Given the description of an element on the screen output the (x, y) to click on. 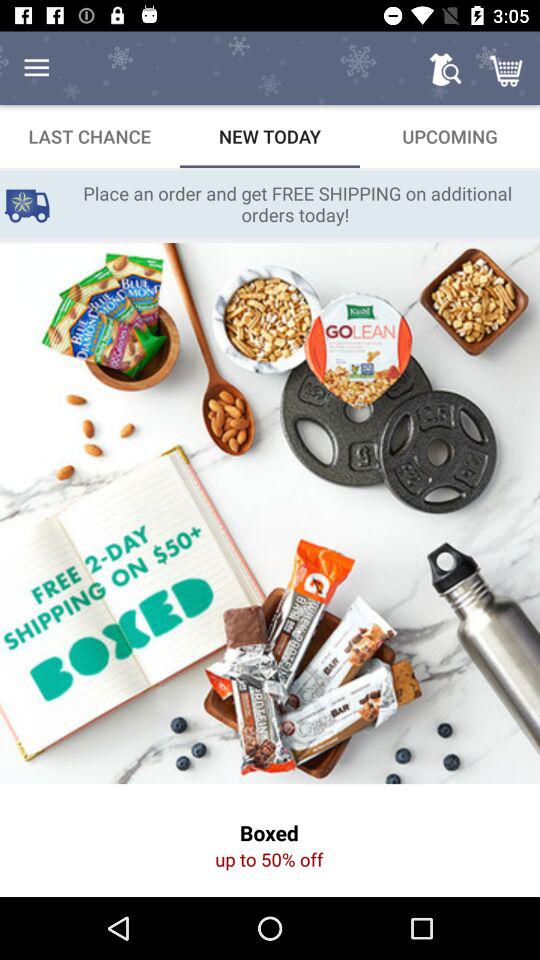
tap item above last chance item (36, 68)
